Given the description of an element on the screen output the (x, y) to click on. 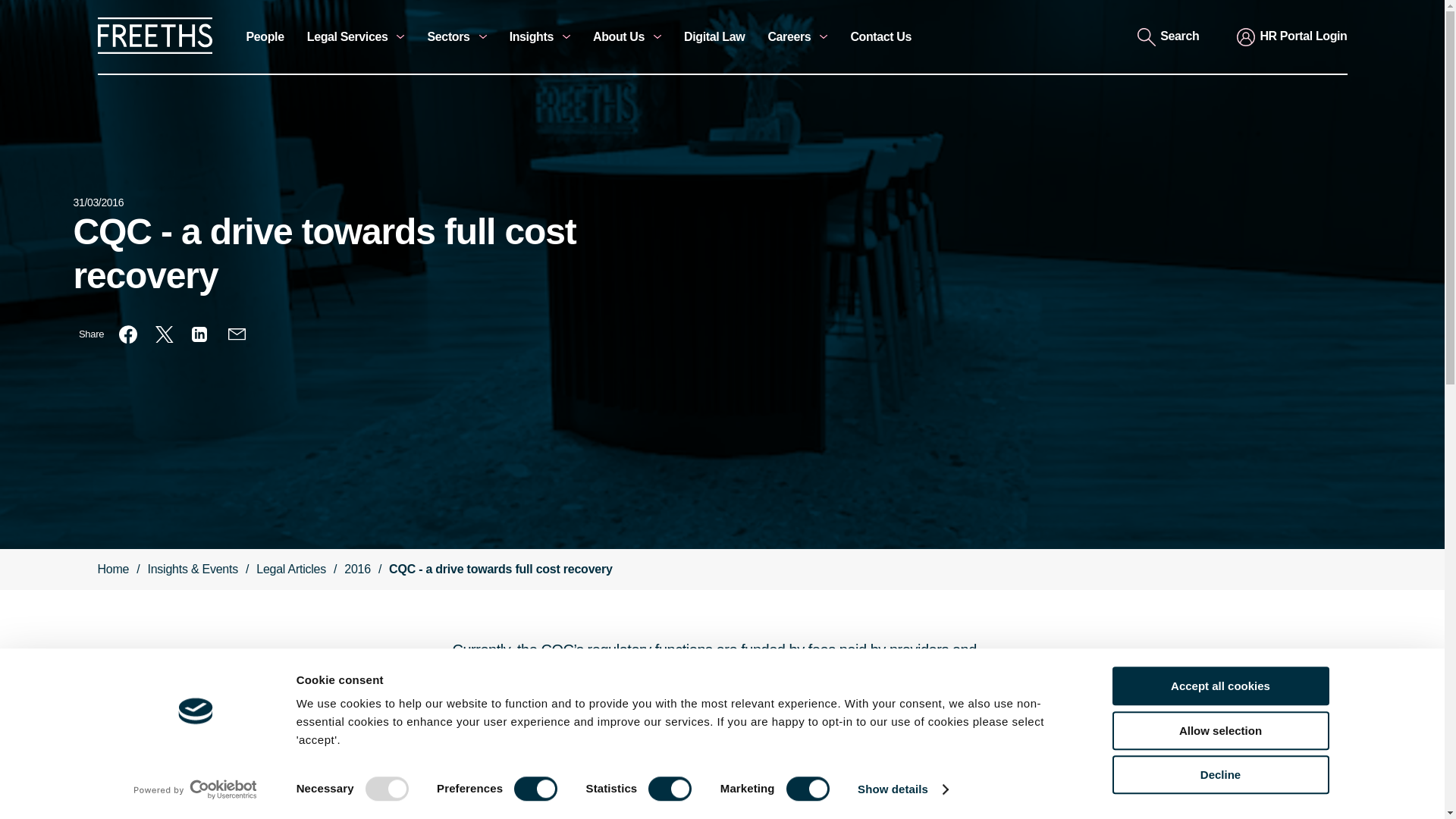
Decline (1219, 774)
Share (90, 334)
Go to homepage (154, 49)
Allow selection (1219, 730)
Share via Facebook (127, 334)
Show details (902, 789)
Share via X (163, 334)
Accept all cookies (1219, 685)
Share via LinkedIn (200, 334)
Share via email (236, 334)
